Given the description of an element on the screen output the (x, y) to click on. 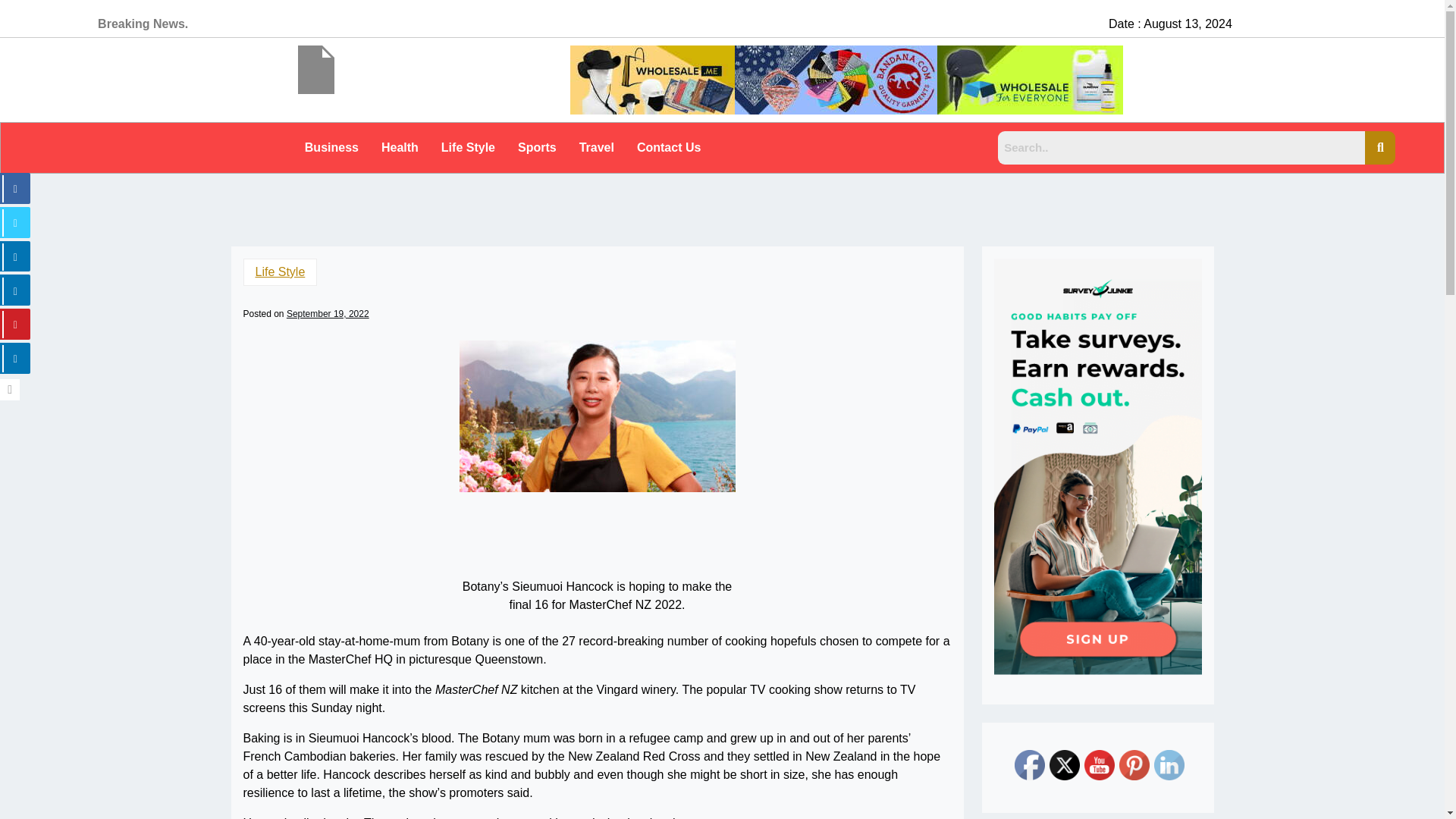
Sports (536, 147)
Search (1181, 147)
YouTube (1099, 765)
September 19, 2022 (327, 313)
Life Style (280, 271)
Facebook (1029, 765)
Pinterest (1134, 765)
Contact Us (668, 147)
Twitter (1064, 765)
Business (331, 147)
